Given the description of an element on the screen output the (x, y) to click on. 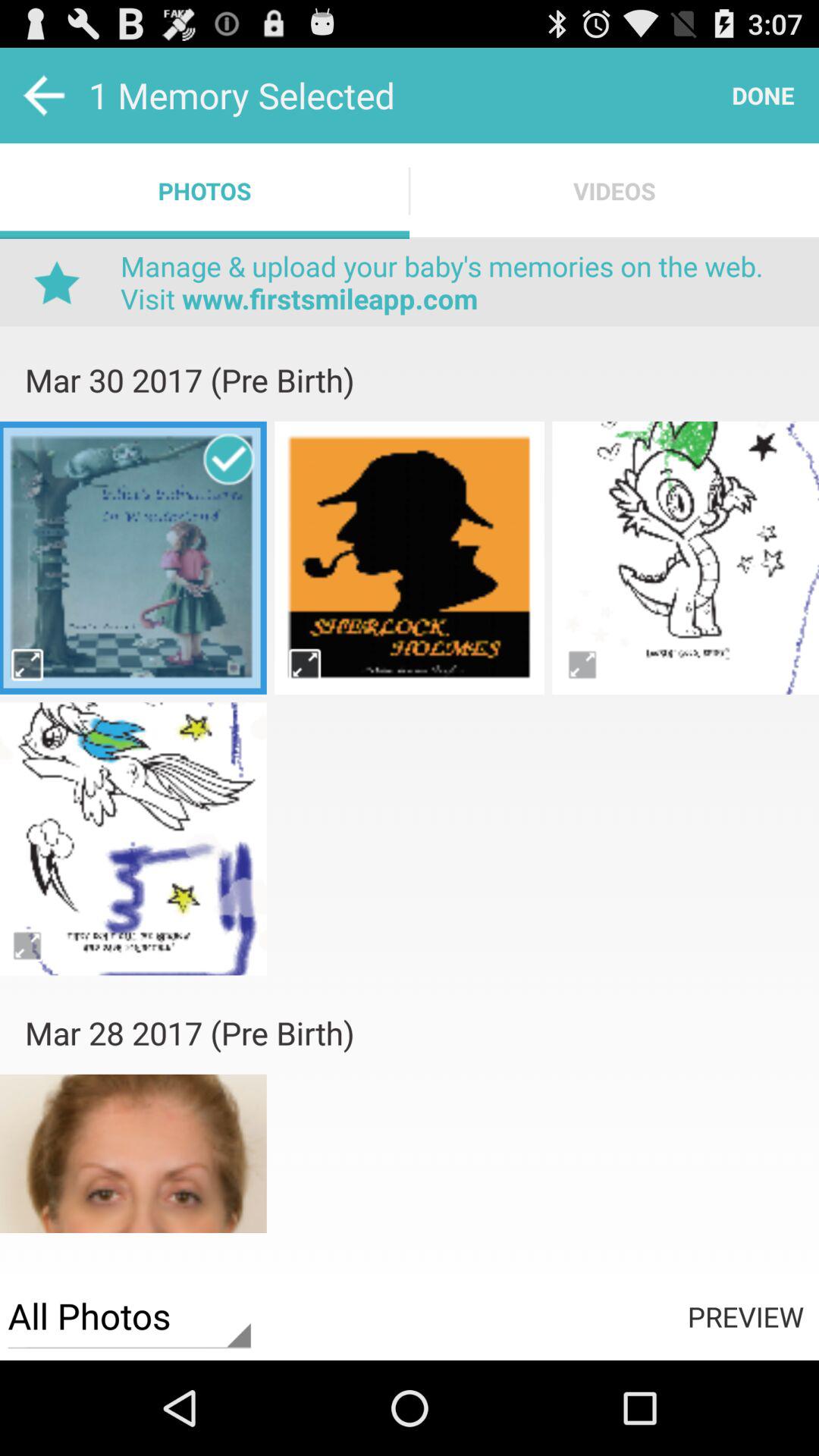
photos page (409, 557)
